Given the description of an element on the screen output the (x, y) to click on. 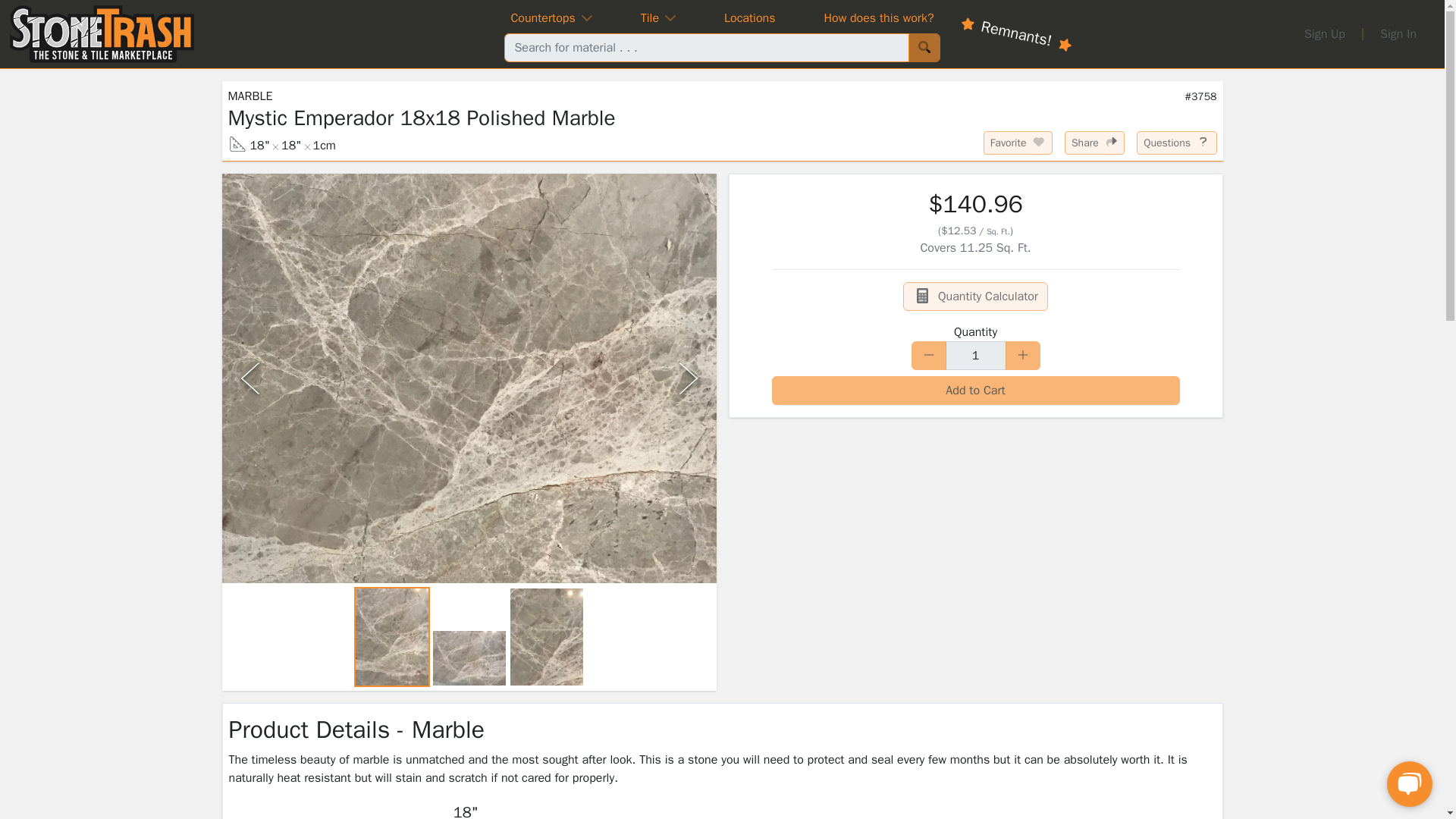
Favorite (1018, 142)
Locations (748, 18)
Share (1094, 142)
Sign Up (1324, 33)
Questions (1176, 142)
12.530000000000001 (957, 230)
Remnants! (1015, 19)
Search! (924, 47)
Countertops (549, 18)
11.25 (994, 247)
How does this work? (877, 18)
18 inches x 18 inches x 1.27 cm (280, 145)
MARBLE (249, 96)
1.27 cm (324, 145)
1 (975, 355)
